Given the description of an element on the screen output the (x, y) to click on. 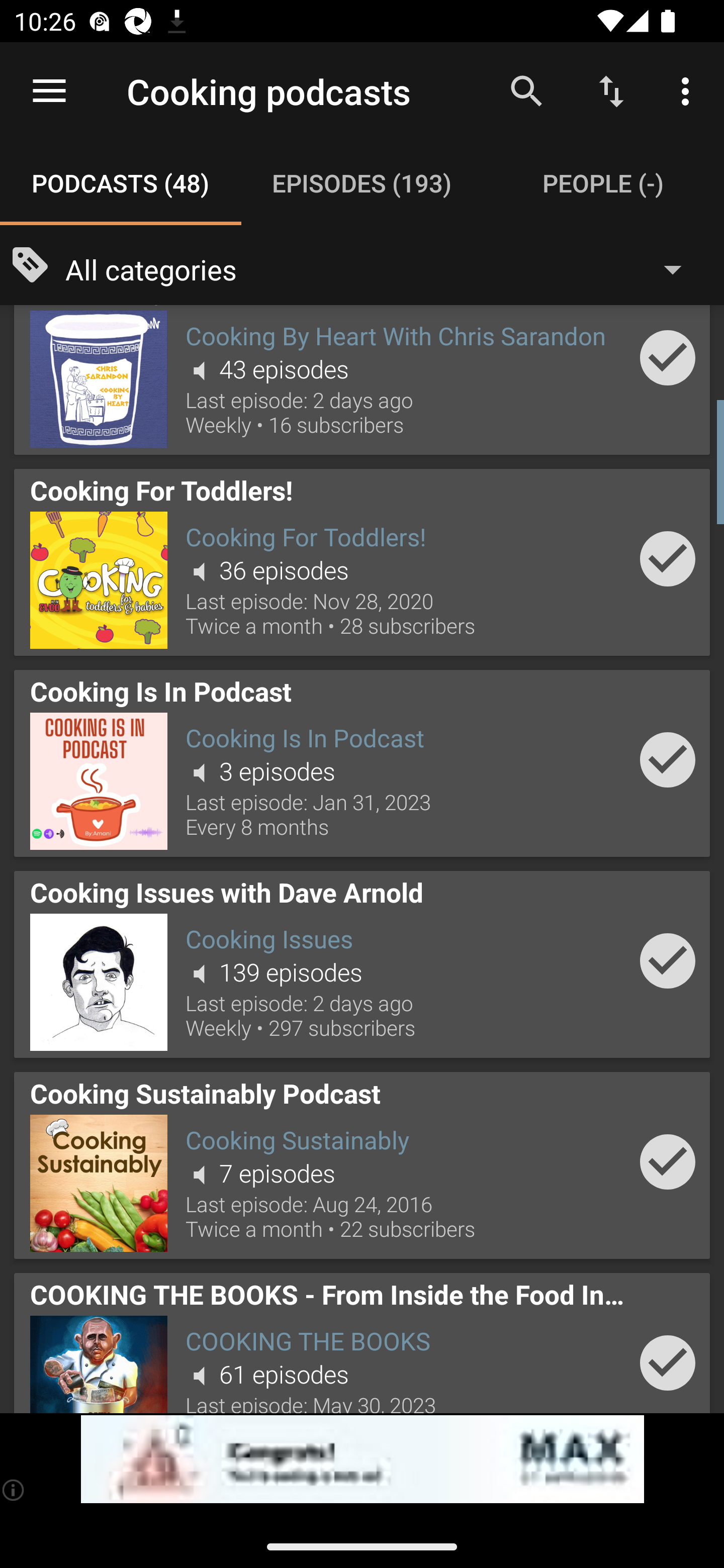
Open navigation sidebar (49, 91)
Search (526, 90)
Sort (611, 90)
More options (688, 90)
Episodes (193) EPISODES (193) (361, 183)
People (-) PEOPLE (-) (603, 183)
All categories (383, 268)
Add (667, 357)
Add (667, 557)
Add (667, 760)
Add (667, 960)
Add (667, 1161)
Add (667, 1362)
app-monetization (362, 1459)
(i) (14, 1489)
